Given the description of an element on the screen output the (x, y) to click on. 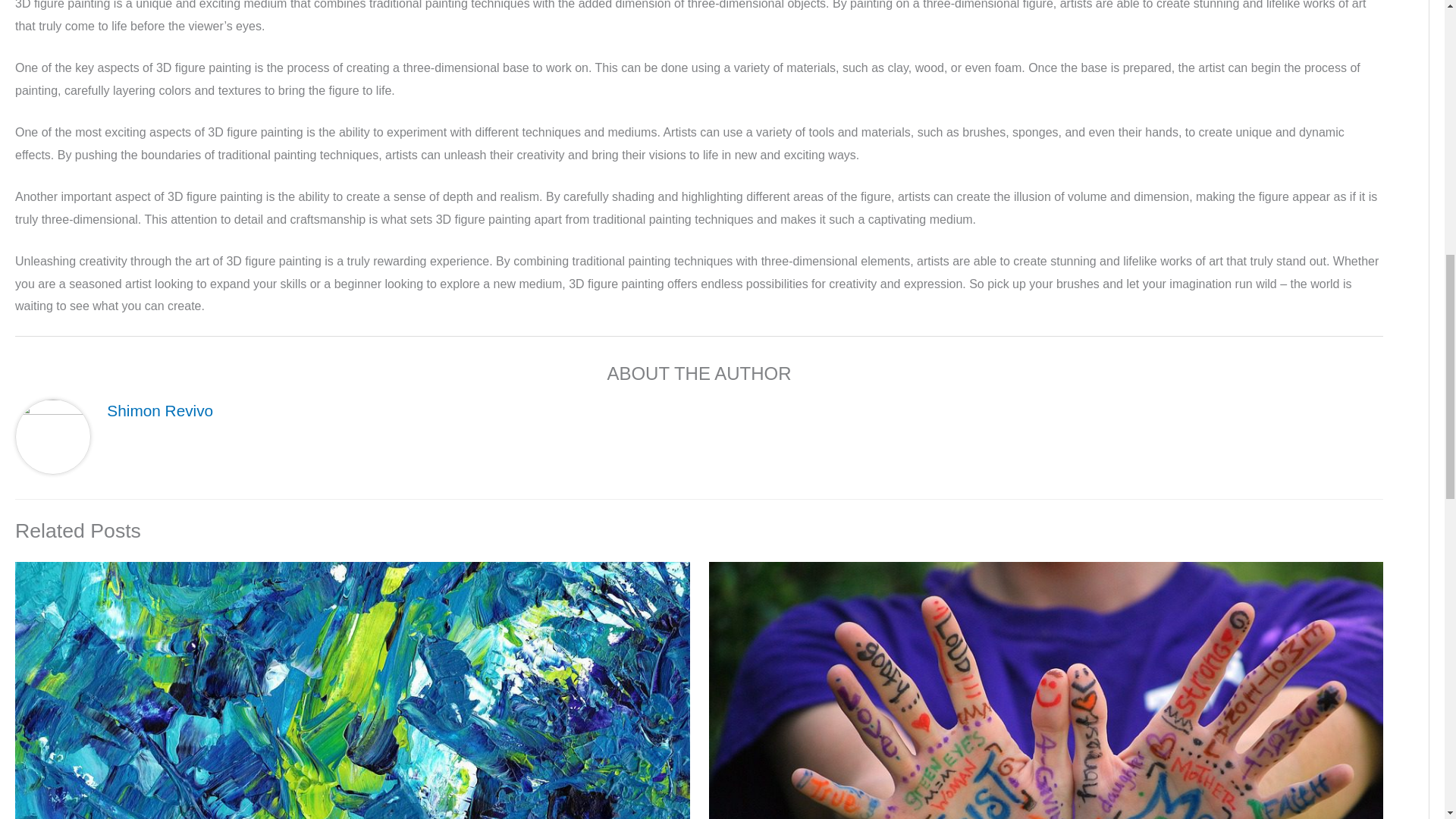
Shimon Revivo (159, 410)
